Given the description of an element on the screen output the (x, y) to click on. 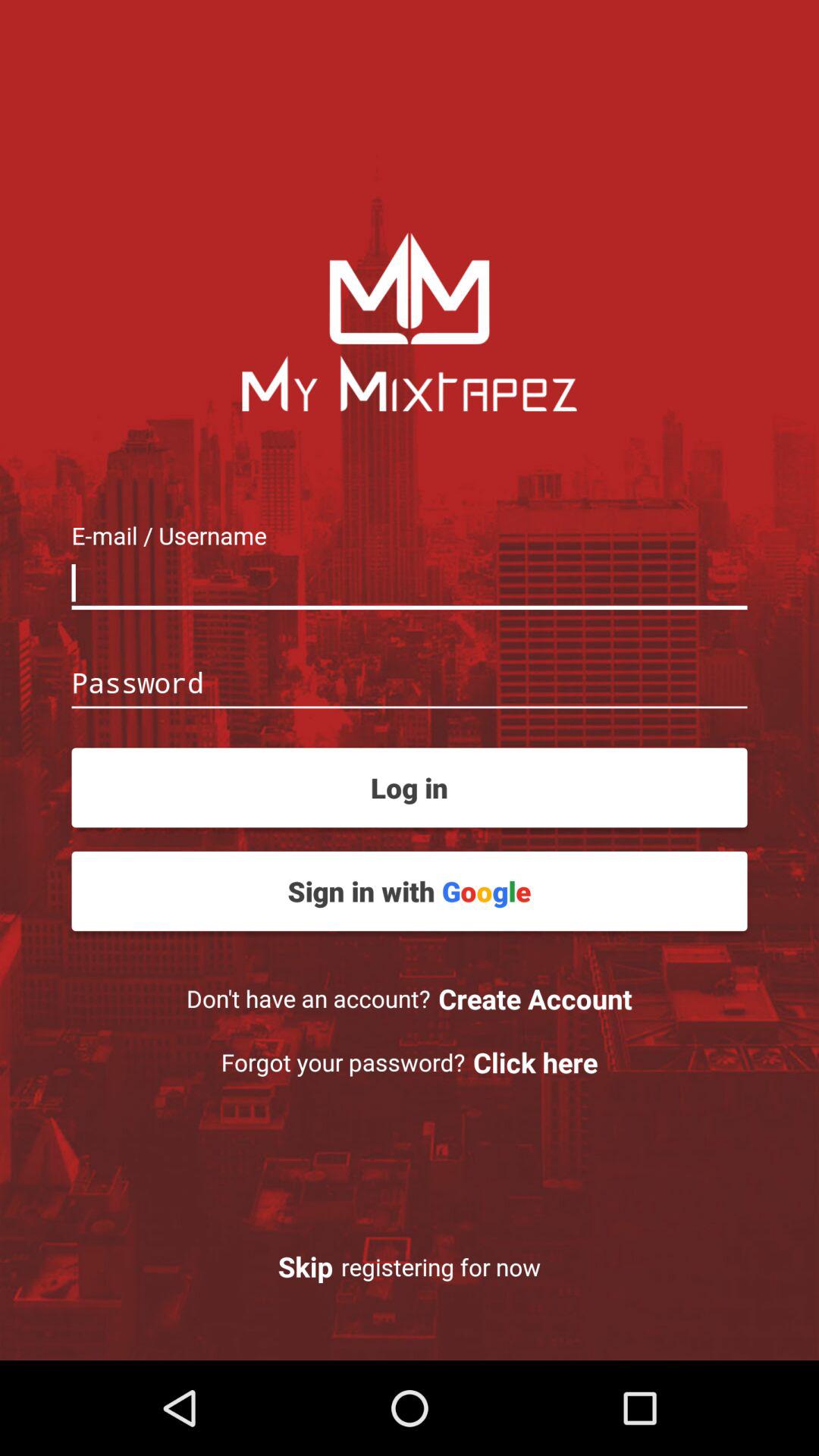
click on password above the log in (409, 684)
